Given the description of an element on the screen output the (x, y) to click on. 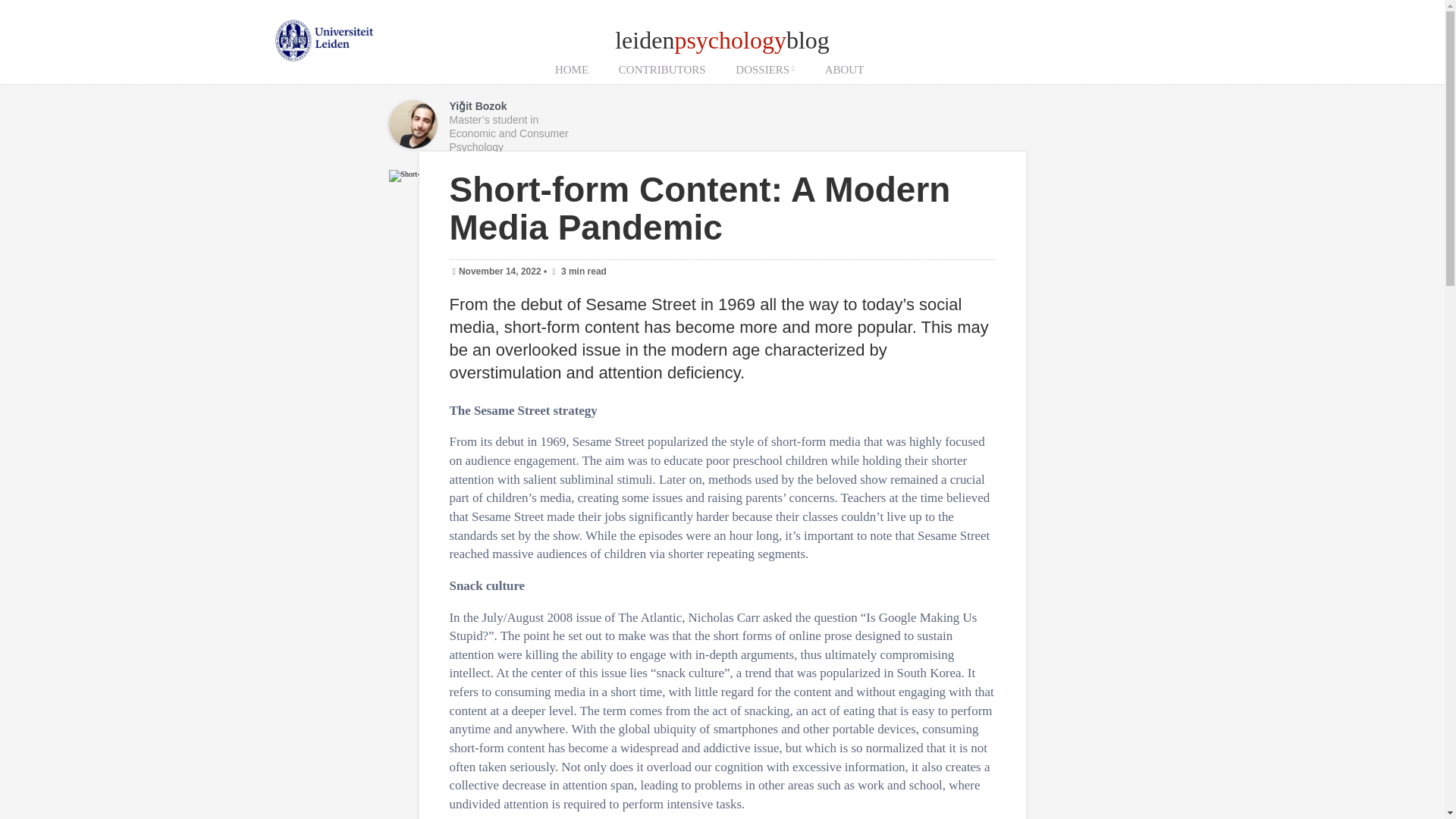
DOSSIERS (765, 69)
HOME (571, 69)
leidenpsychologyblog (721, 40)
ABOUT (843, 69)
CONTRIBUTORS (662, 69)
